Given the description of an element on the screen output the (x, y) to click on. 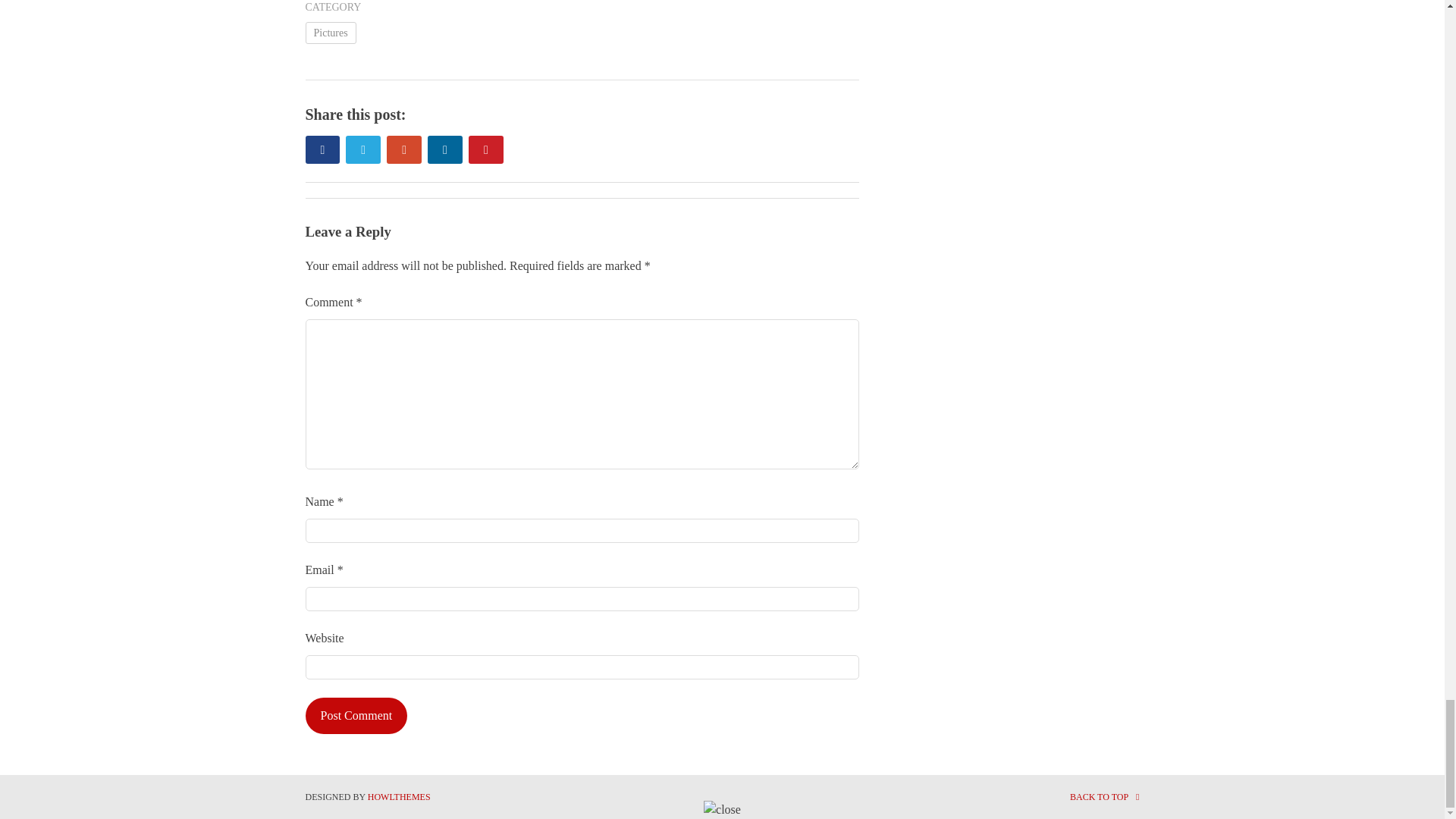
Back to top (1105, 796)
Post Comment (355, 715)
Pictures (329, 33)
Post Comment (355, 715)
